Given the description of an element on the screen output the (x, y) to click on. 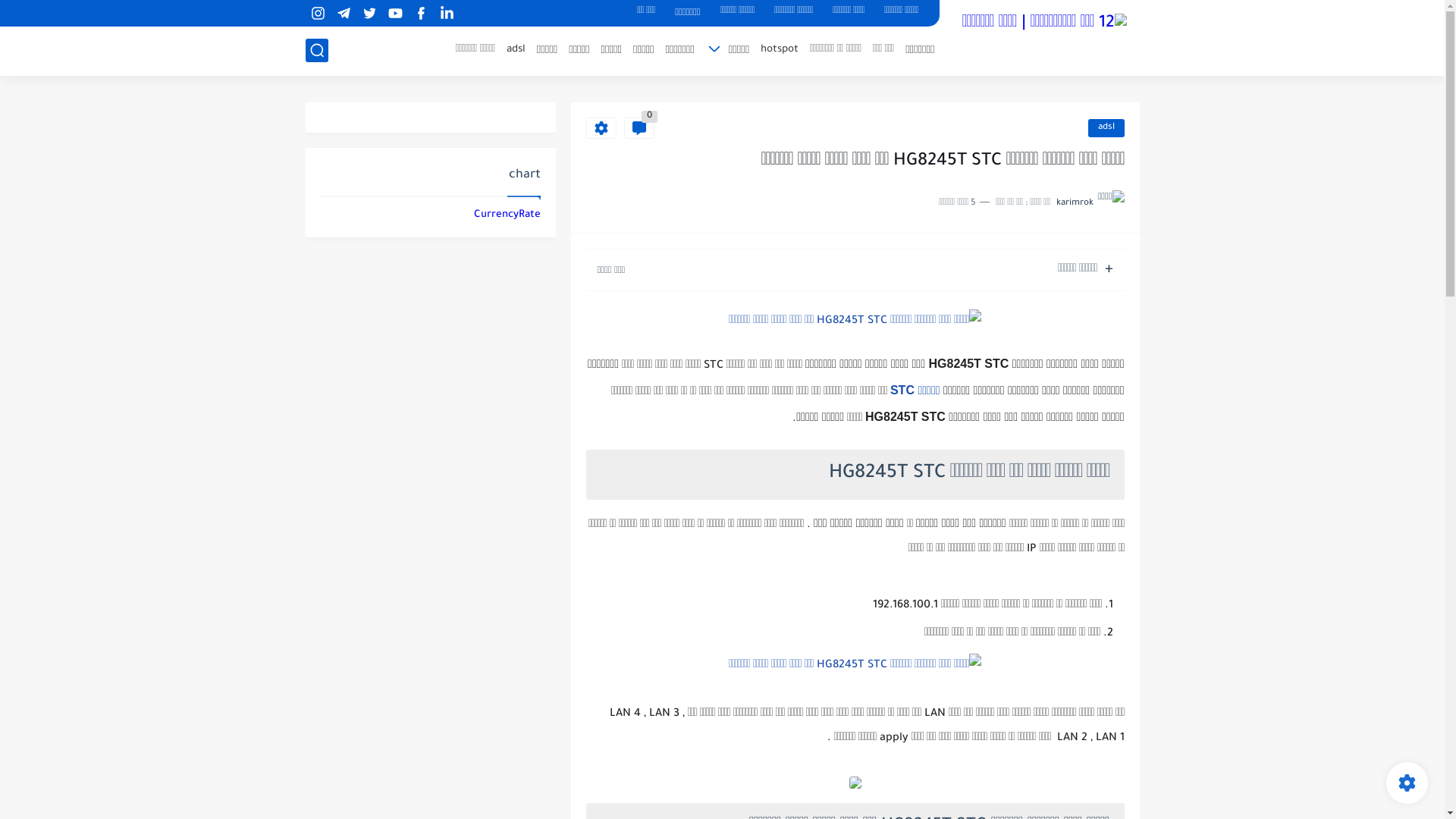
adsl Element type: text (515, 49)
linkedin Element type: hover (447, 13)
hotspot Element type: text (779, 49)
telegram Element type: hover (344, 13)
adsl Element type: text (1105, 128)
CurrencyRate Element type: text (506, 214)
0 Element type: text (638, 127)
facebook Element type: hover (421, 13)
instagram Element type: hover (318, 13)
twitter Element type: hover (369, 13)
youtube Element type: hover (395, 13)
